Given the description of an element on the screen output the (x, y) to click on. 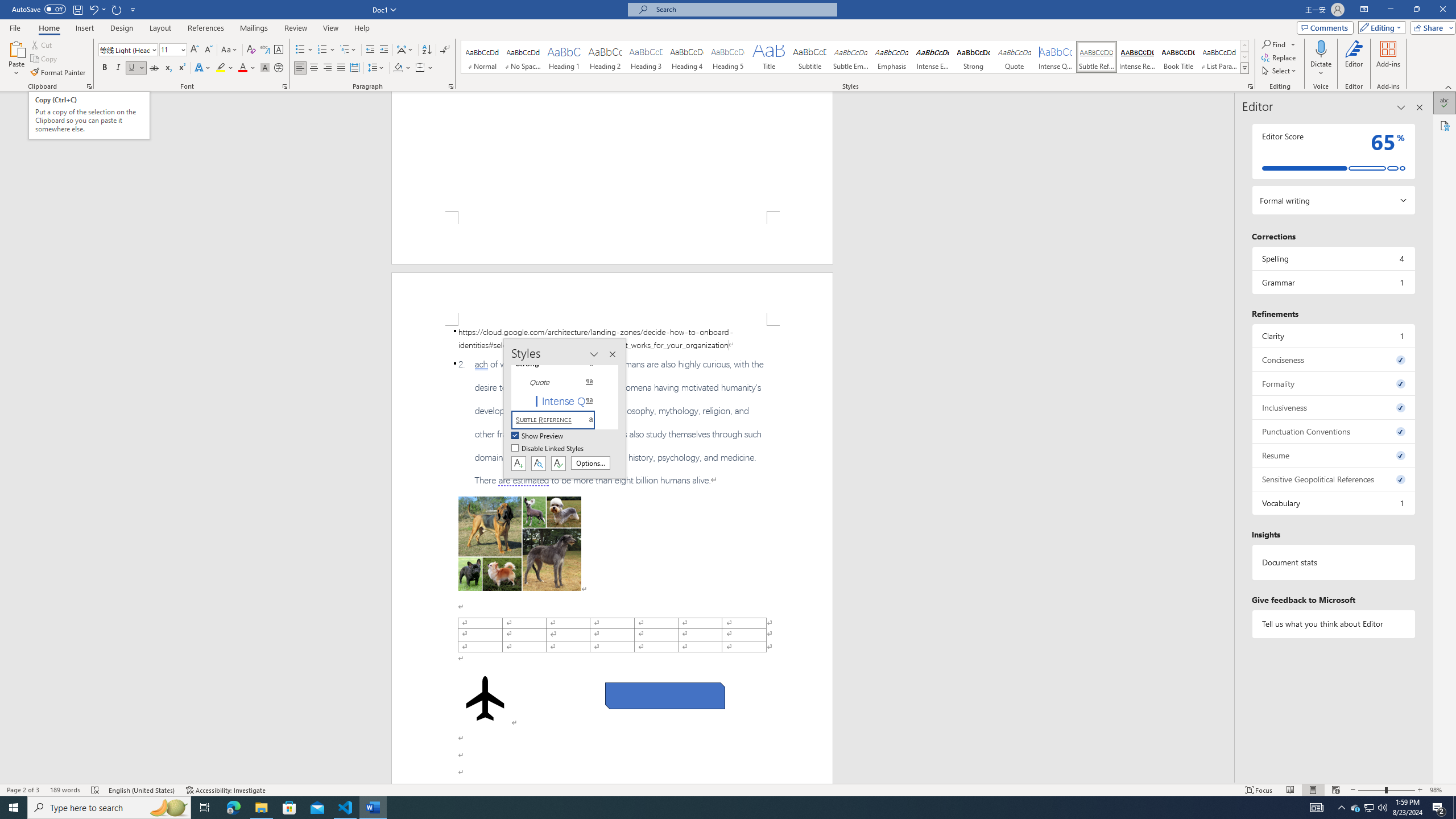
Page 2 content (611, 554)
Subtle Reference (1095, 56)
Document statistics (1333, 561)
